Given the description of an element on the screen output the (x, y) to click on. 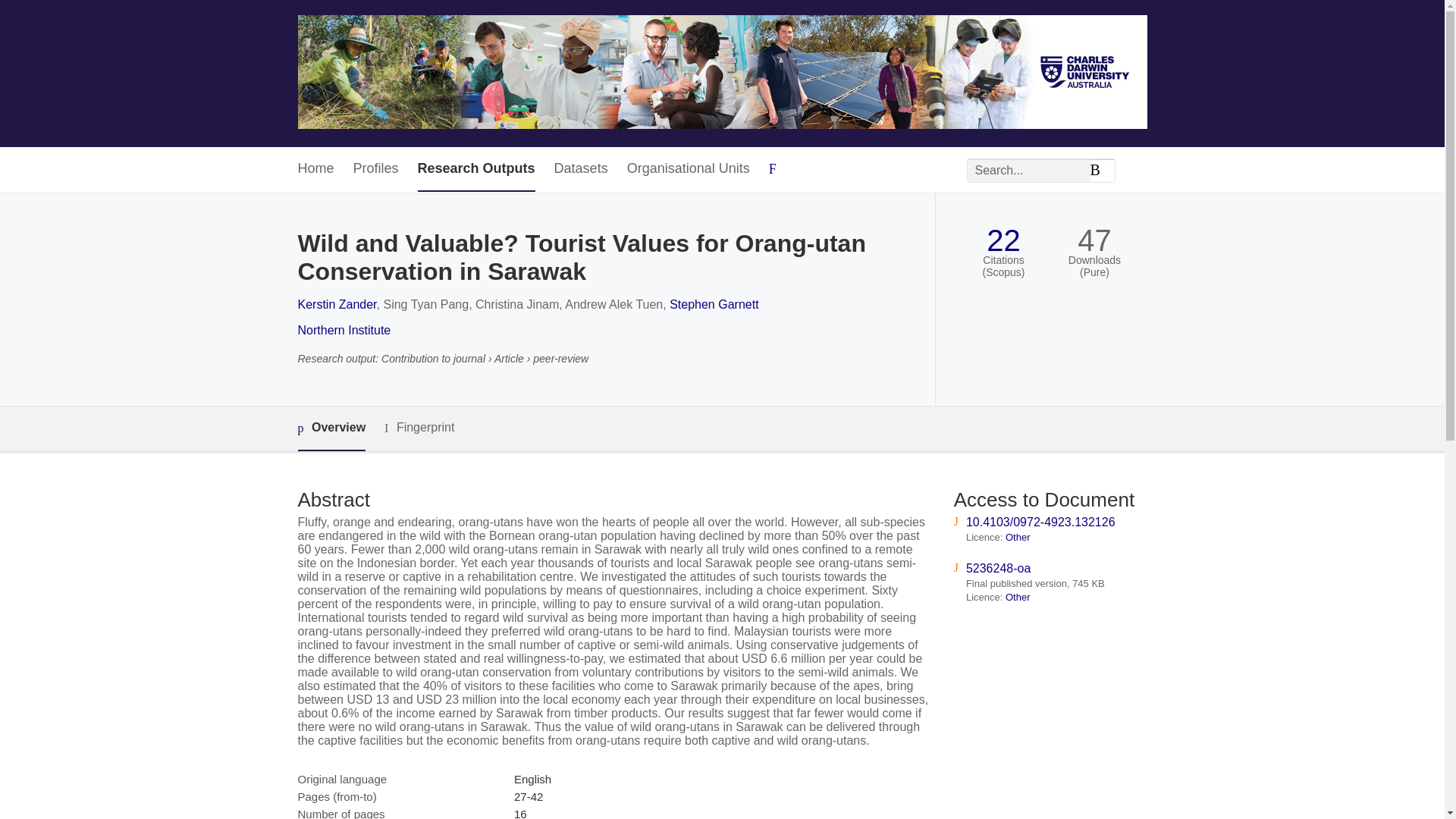
Profiles (375, 169)
Charles Darwin University Home (722, 73)
Fingerprint (419, 427)
Research Outputs (476, 169)
Stephen Garnett (713, 304)
Overview (331, 428)
Other (1018, 536)
Datasets (581, 169)
22 (1003, 240)
Organisational Units (688, 169)
Northern Institute (343, 329)
Kerstin Zander (336, 304)
5236248-oa (998, 567)
Other (1018, 596)
